Given the description of an element on the screen output the (x, y) to click on. 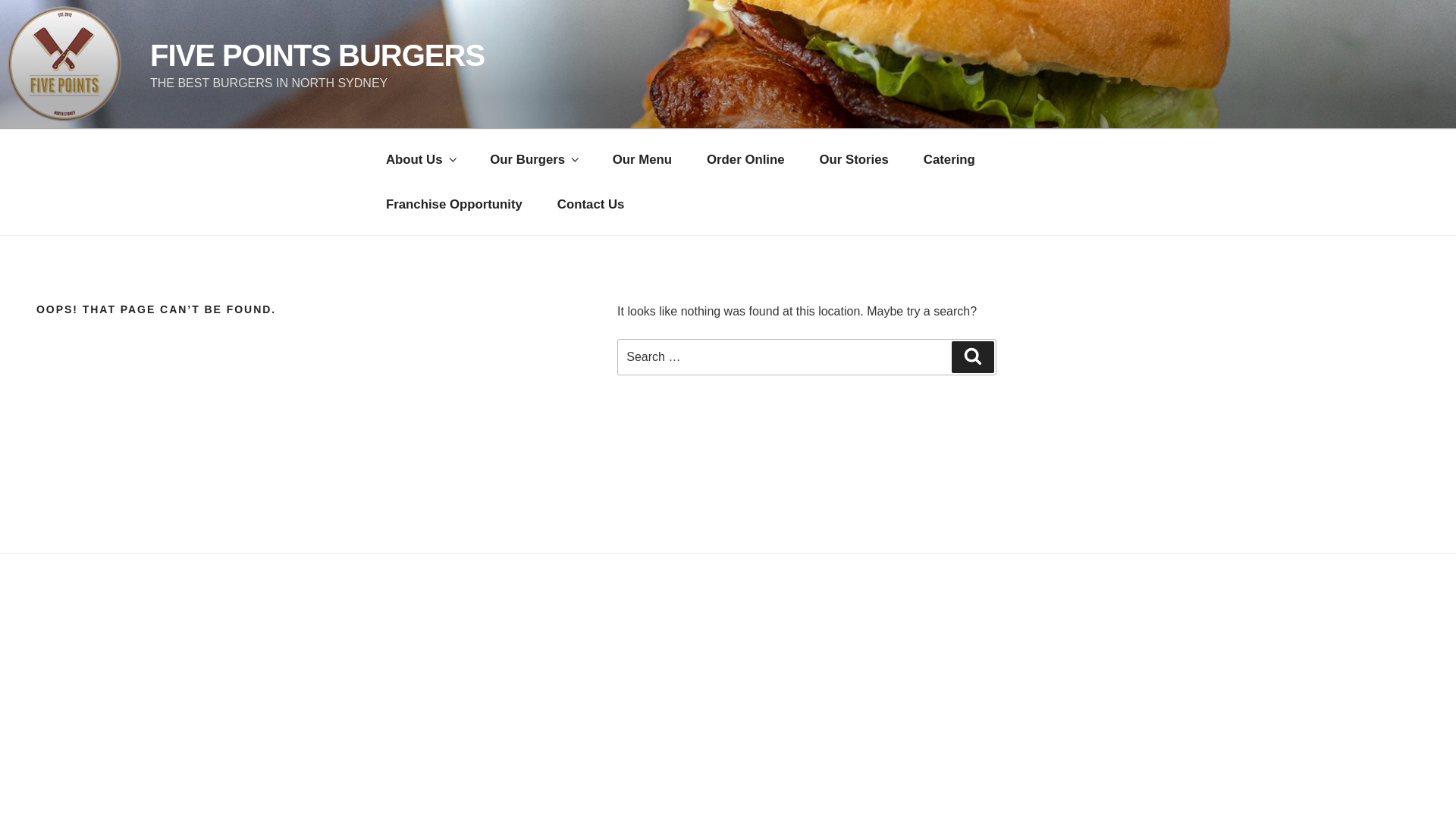
Order Online Element type: text (745, 159)
Franchise Opportunity Element type: text (454, 204)
Our Stories Element type: text (853, 159)
Search Element type: text (972, 357)
Our Burgers Element type: text (533, 159)
Contact Us Element type: text (590, 204)
Catering Element type: text (949, 159)
About Us Element type: text (420, 159)
FIVE POINTS BURGERS Element type: text (317, 55)
Our Menu Element type: text (641, 159)
